Given the description of an element on the screen output the (x, y) to click on. 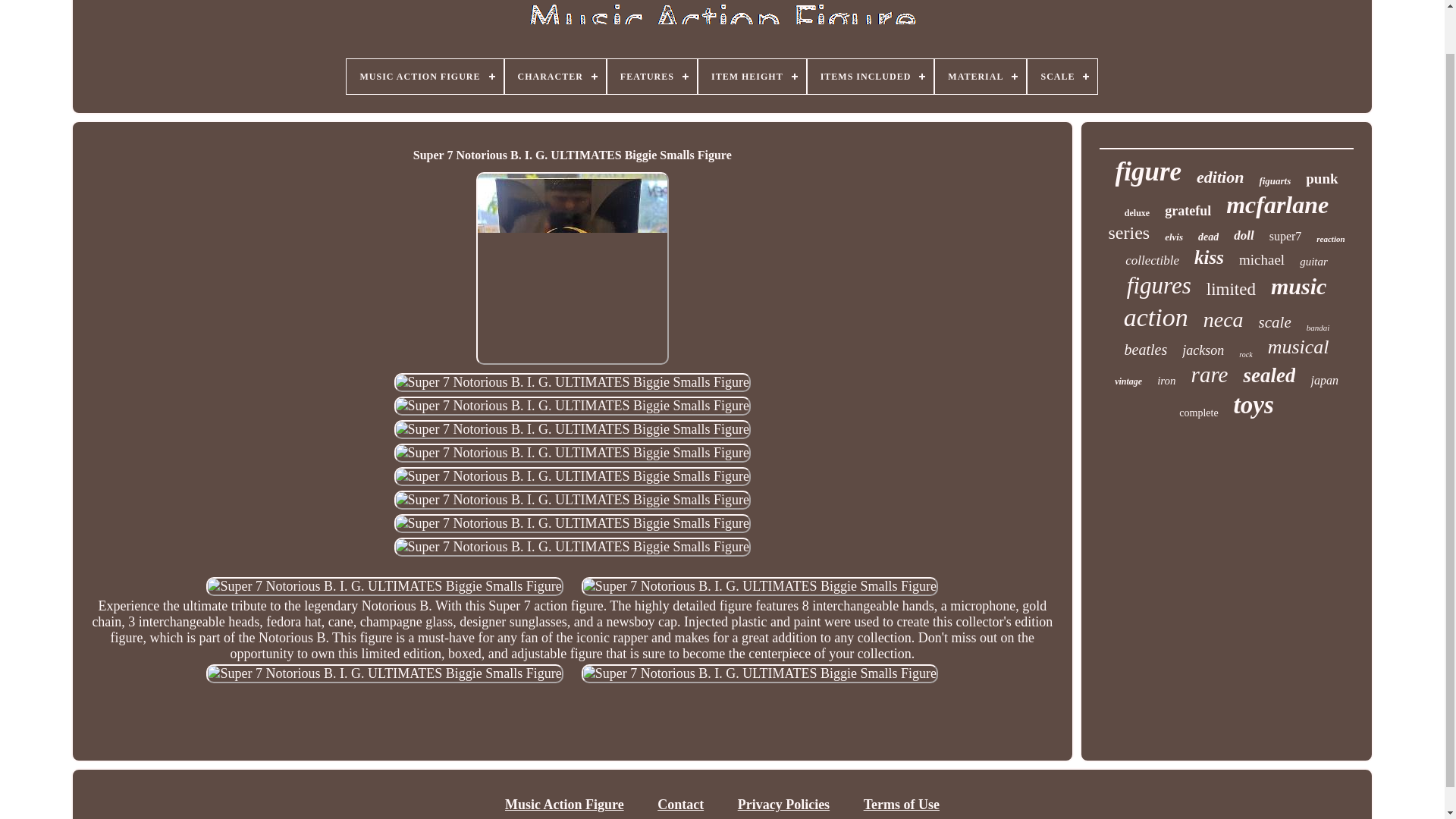
Super 7 Notorious B. I. G. ULTIMATES Biggie Smalls Figure (758, 673)
Super 7 Notorious B. I. G. ULTIMATES Biggie Smalls Figure (572, 382)
Super 7 Notorious B. I. G. ULTIMATES Biggie Smalls Figure (572, 452)
Super 7 Notorious B. I. G. ULTIMATES Biggie Smalls Figure (572, 499)
Super 7 Notorious B. I. G. ULTIMATES Biggie Smalls Figure (572, 405)
Super 7 Notorious B. I. G. ULTIMATES Biggie Smalls Figure (572, 429)
Super 7 Notorious B. I. G. ULTIMATES Biggie Smalls Figure (384, 586)
Super 7 Notorious B. I. G. ULTIMATES Biggie Smalls Figure (572, 476)
Super 7 Notorious B. I. G. ULTIMATES Biggie Smalls Figure (572, 546)
CHARACTER (555, 76)
